Given the description of an element on the screen output the (x, y) to click on. 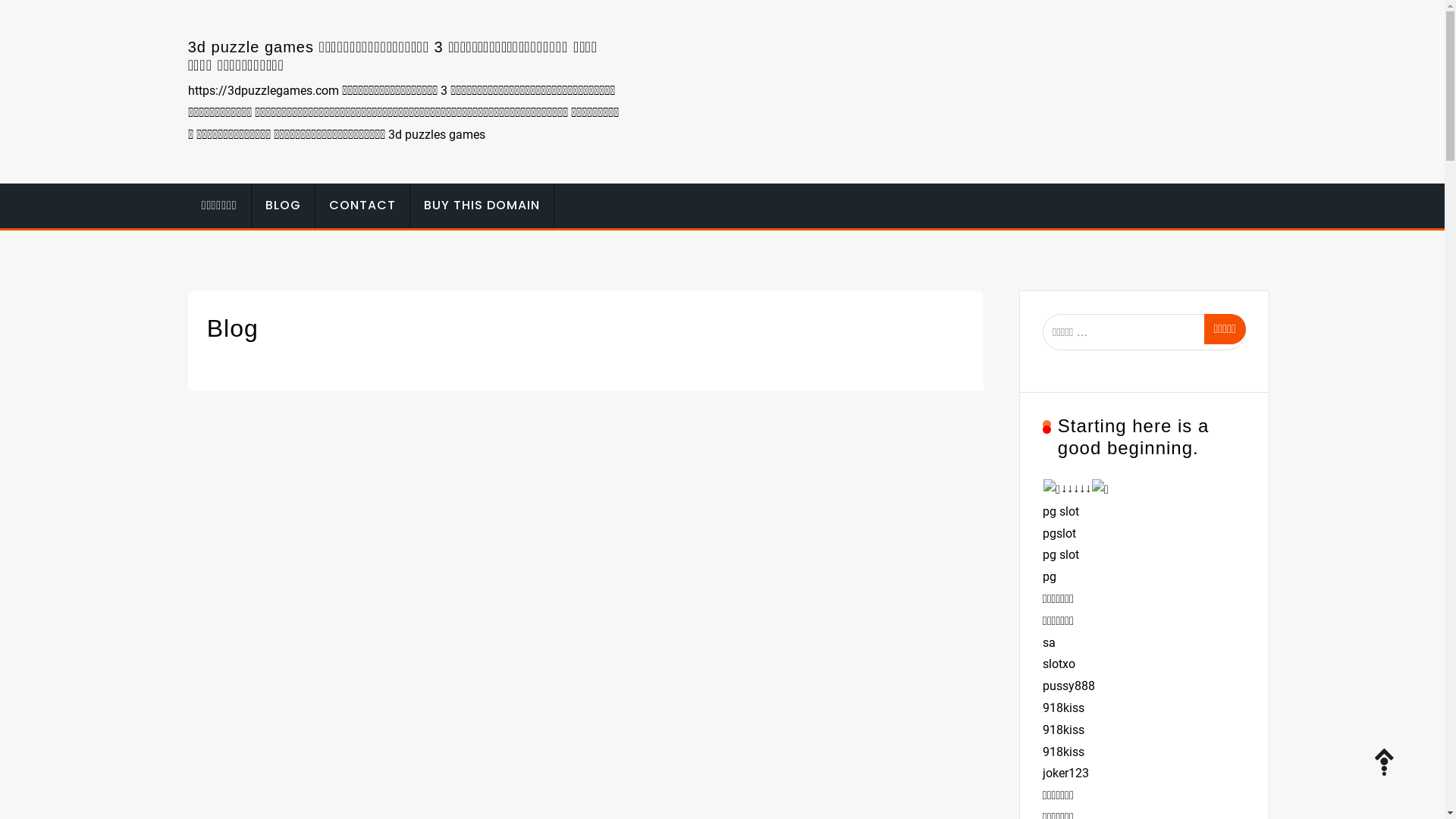
918kiss Element type: text (1063, 751)
918kiss Element type: text (1063, 707)
pg Element type: text (1049, 576)
pg slot Element type: text (1060, 554)
joker123 Element type: text (1065, 772)
pussy888 Element type: text (1068, 685)
pg slot Element type: text (1060, 511)
BLOG Element type: text (283, 205)
pgslot Element type: text (1059, 533)
slotxo Element type: text (1058, 663)
918kiss Element type: text (1063, 729)
sa Element type: text (1048, 642)
BUY THIS DOMAIN Element type: text (482, 205)
CONTACT Element type: text (362, 205)
